Given the description of an element on the screen output the (x, y) to click on. 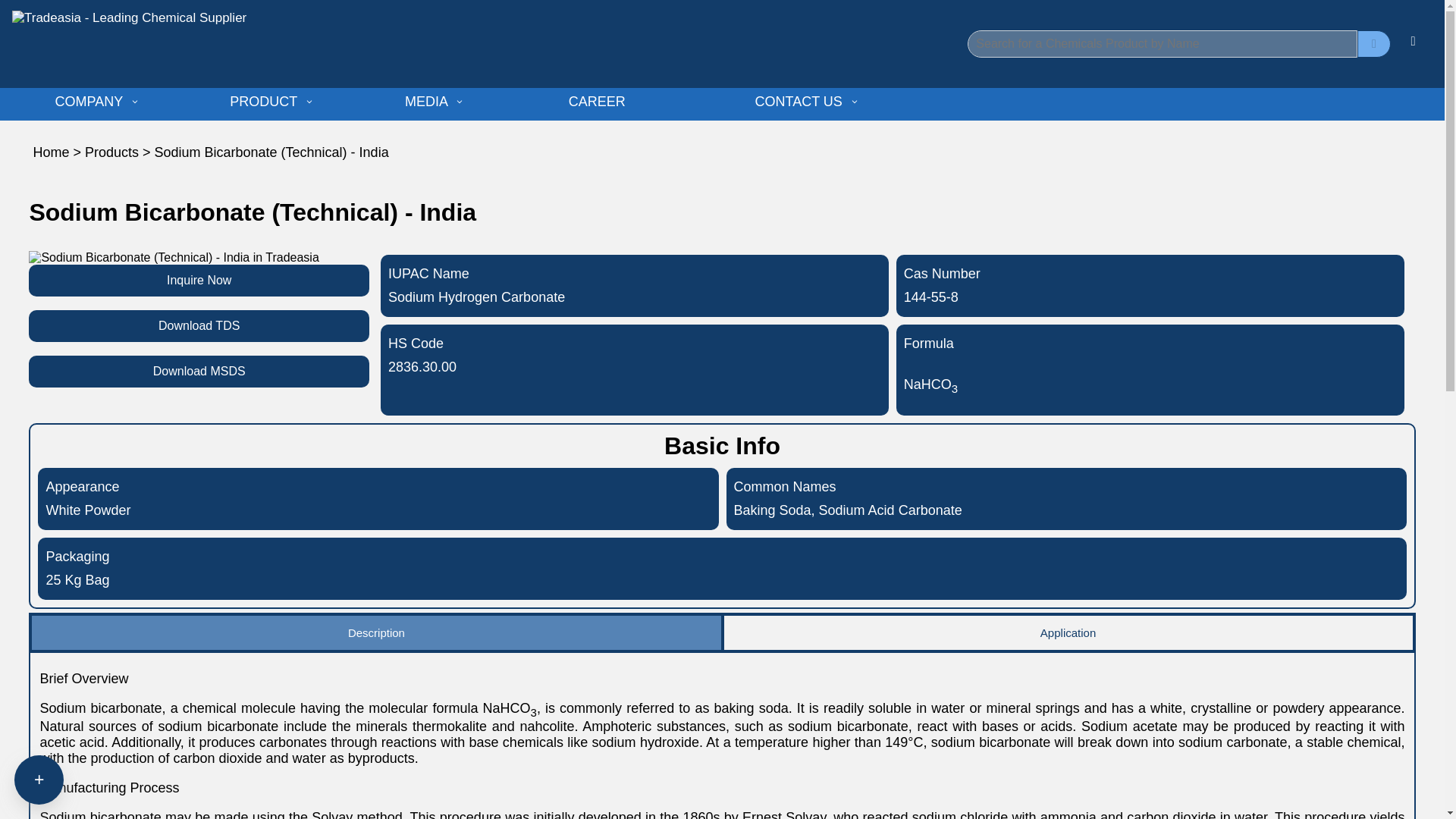
MEDIA (436, 101)
CONTACT US (807, 101)
PRODUCT (273, 101)
COMPANY (98, 101)
CAREER (656, 101)
